Given the description of an element on the screen output the (x, y) to click on. 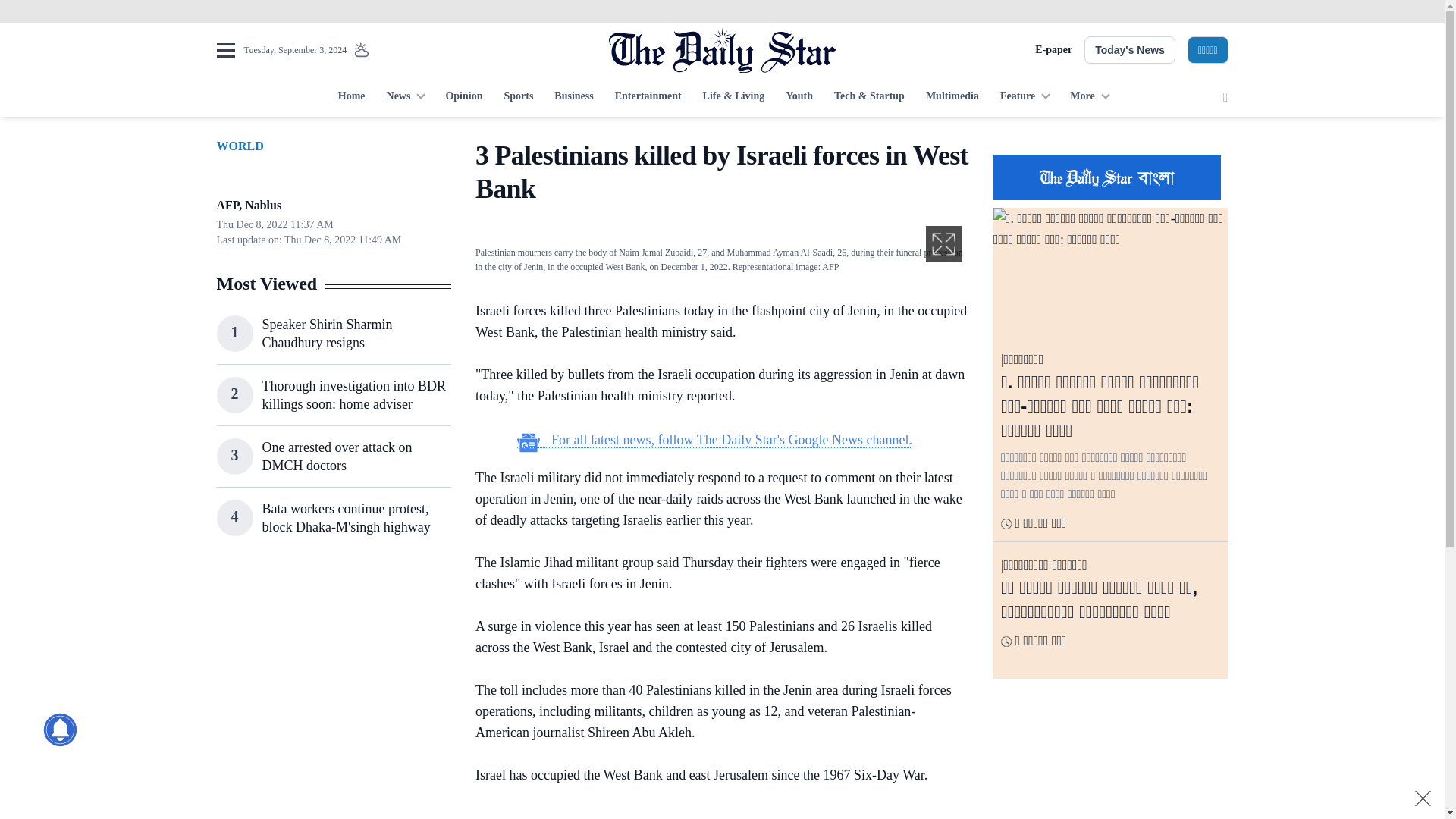
Home (351, 96)
Business (573, 96)
Opinion (463, 96)
News (405, 96)
Feature (1024, 96)
Multimedia (952, 96)
Entertainment (647, 96)
E-paper (1053, 49)
Today's News (1129, 49)
